Given the description of an element on the screen output the (x, y) to click on. 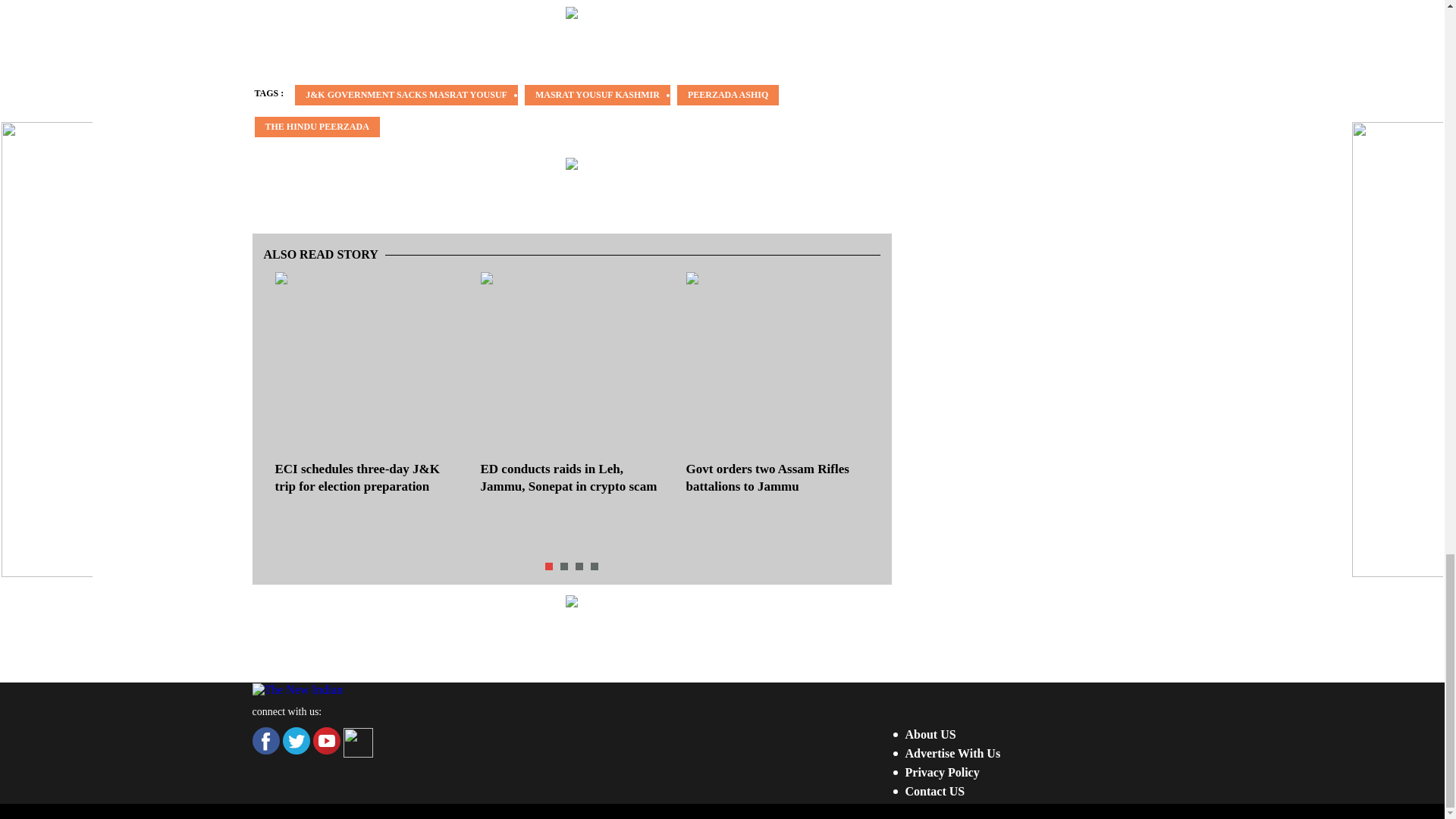
The New Indian (296, 688)
The New Indian (296, 689)
